Given the description of an element on the screen output the (x, y) to click on. 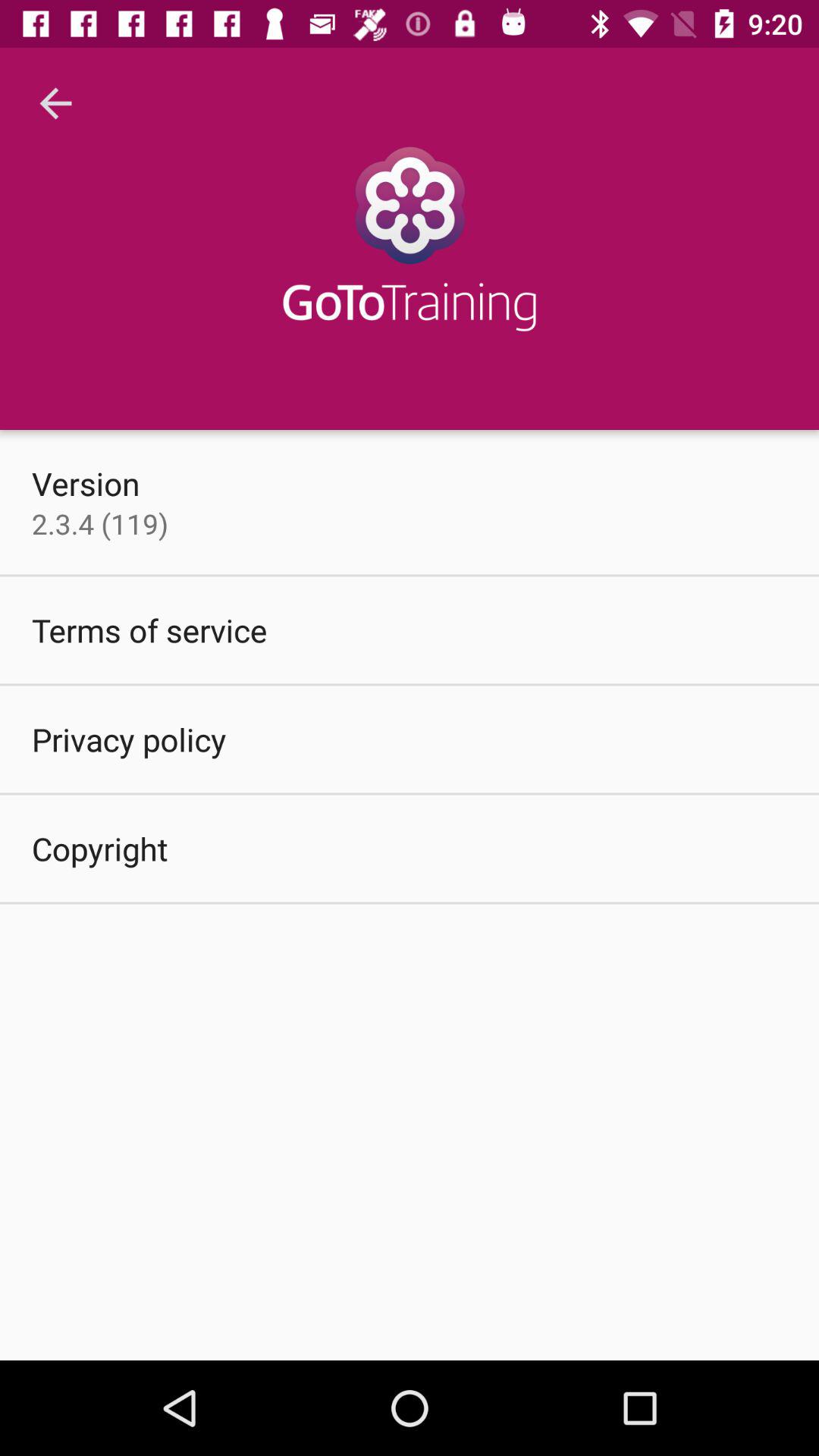
press the icon above copyright (128, 738)
